Given the description of an element on the screen output the (x, y) to click on. 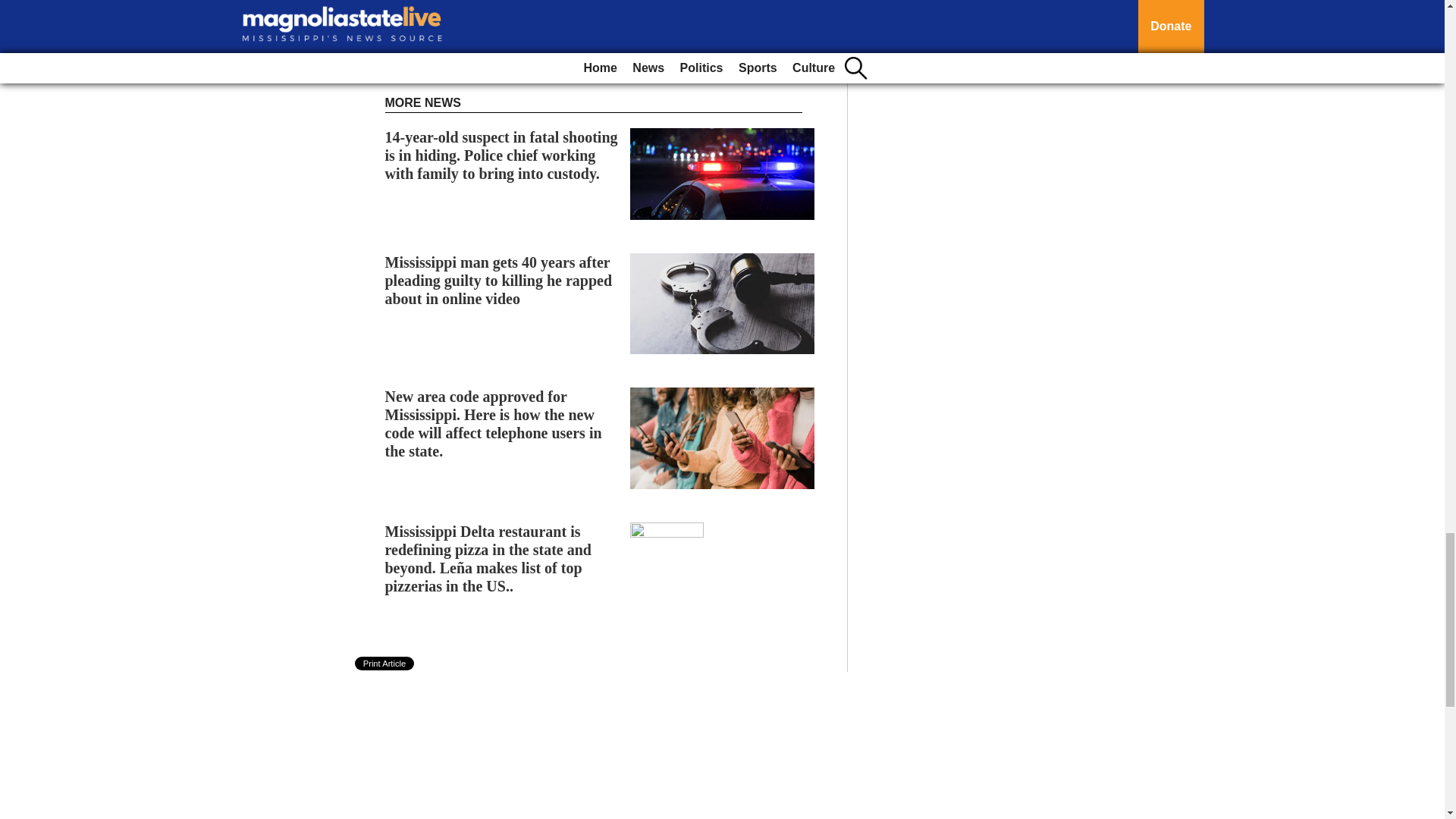
Print Article (384, 663)
